Given the description of an element on the screen output the (x, y) to click on. 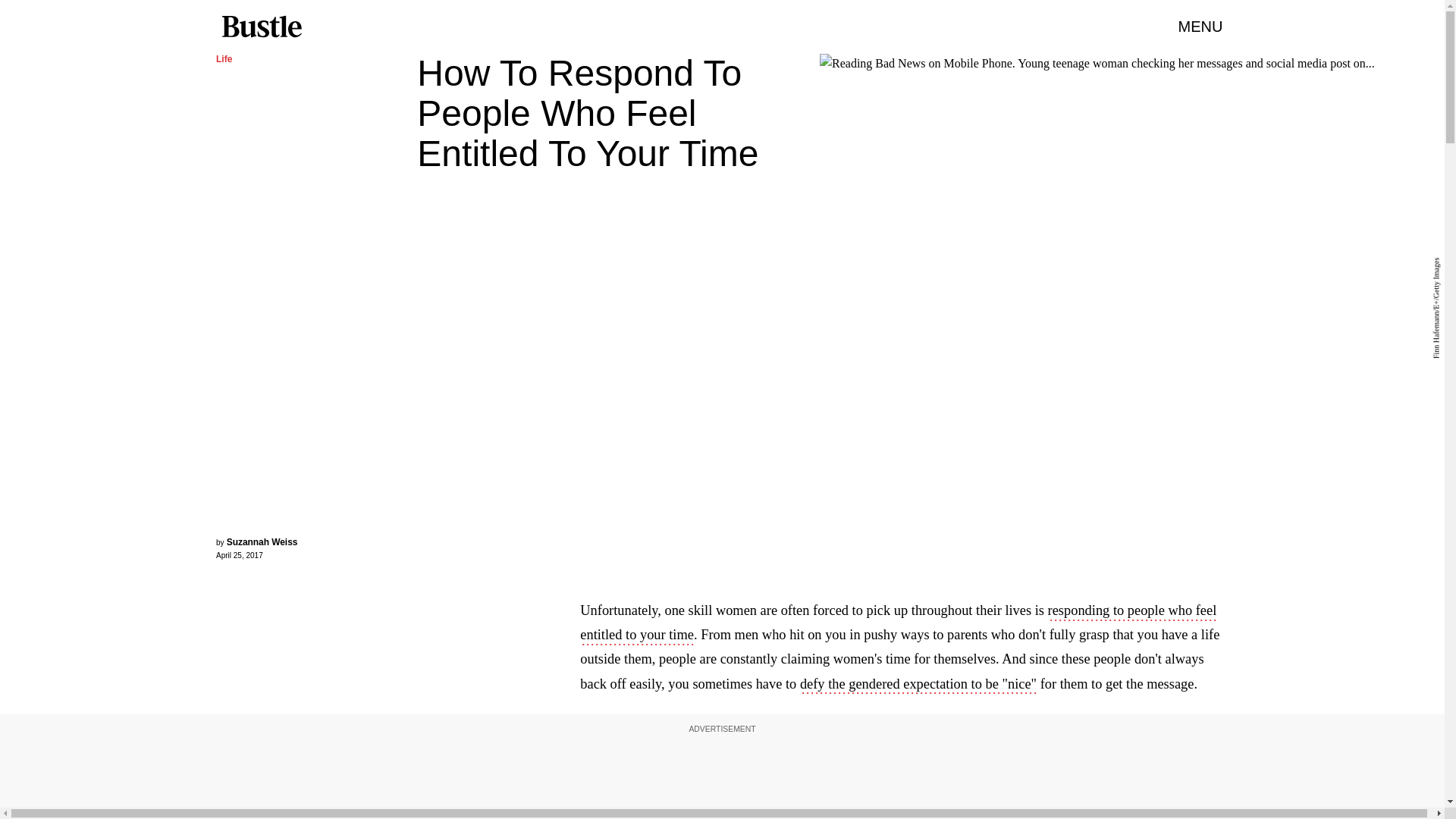
Suzannah Weiss (262, 542)
responding to people who feel entitled to your time (897, 623)
defy the gendered expectation to be "nice" (917, 685)
Bustle (261, 26)
